Given the description of an element on the screen output the (x, y) to click on. 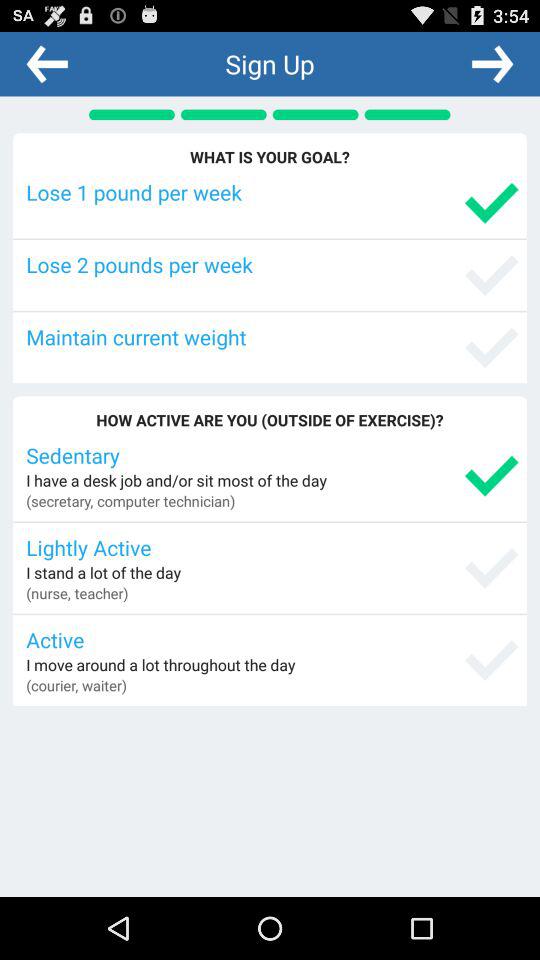
select lightly active icon (272, 547)
